Given the description of an element on the screen output the (x, y) to click on. 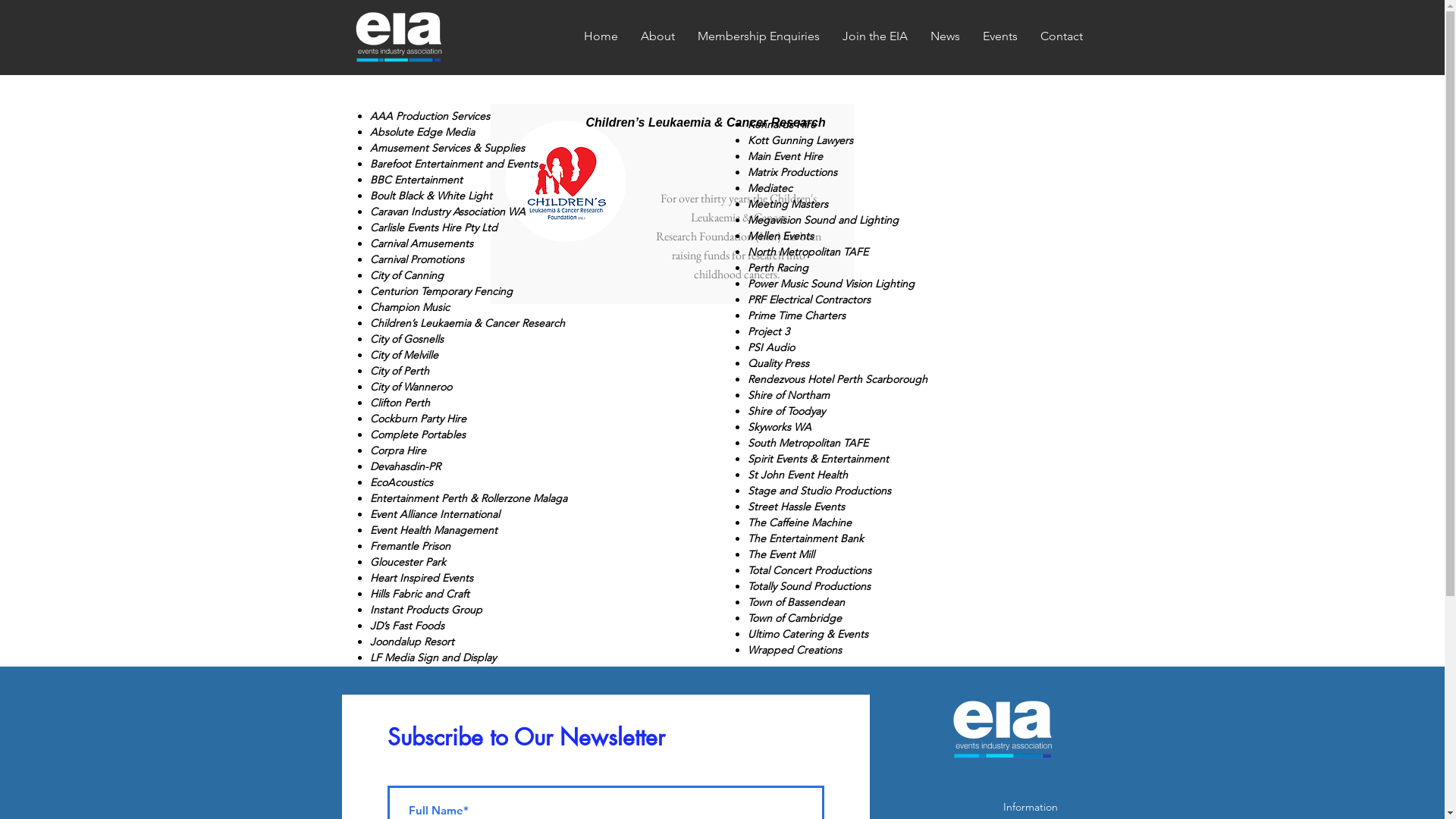
Carnival Promotions Element type: text (417, 259)
Clifton Perth Element type: text (399, 402)
Instant Products Group Element type: text (426, 609)
Centurion Temporary Fencing Element type: text (441, 291)
Meeting Masters Element type: text (787, 203)
Membership Enquiries Element type: text (757, 35)
Shire of Toodyay Element type: text (786, 410)
LF Media Sign and Display Element type: text (432, 657)
Mellen Events Element type: text (780, 235)
The Event Mill Element type: text (780, 554)
Wrapped Creations Element type: text (794, 649)
Contact Element type: text (1060, 35)
Barefoot Entertainment and Events Element type: text (453, 163)
Amusement Services & Supplies Element type: text (447, 147)
Cockburn Party Hire Element type: text (418, 418)
PRF Electrical Contractors Element type: text (808, 299)
Hire Element type: text (414, 450)
City of Canning Element type: text (406, 275)
Joondalup Resort Element type: text (412, 641)
Perth Racing Element type: text (777, 267)
About Element type: text (657, 35)
Rendezvous Hotel Perth Scarborough Element type: text (837, 378)
Ultimo Catering & Events Element type: text (807, 633)
Power Music Sound Vision Lighting Element type: text (830, 283)
Town of Bassendean Element type: text (795, 601)
Skyworks WA Element type: text (779, 426)
M Element type: text (751, 219)
Gloucester Park Element type: text (407, 561)
North Metropolitan TAFE Element type: text (807, 251)
PSI Audio Element type: text (770, 347)
Street Hassle Events Element type: text (795, 506)
Spirit Events & Entertainment Element type: text (817, 458)
Matrix Productions Element type: text (792, 171)
The Caffeine Machine Element type: text (799, 522)
Project 3 Element type: text (768, 331)
Carlisle Events Hire Pty Ltd Element type: text (433, 227)
Hills Fabric and Craft Element type: text (419, 593)
Kott Gunning Lawyers Element type: text (800, 140)
Boult Black & White Light Element type: text (431, 195)
City of Gosnells Element type: text (406, 338)
Corpra Element type: text (386, 450)
The Entertainment Bank Element type: text (805, 538)
Carnival Amusements Element type: text (421, 243)
Event Alliance International Element type: text (434, 513)
Fremantle Prison Element type: text (410, 545)
Main Event Hire Element type: text (784, 156)
Devahasdin-PR Element type: text (405, 466)
St John Event Health Element type: text (797, 474)
Complete Portables Element type: text (417, 434)
Join the EIA Element type: text (875, 35)
Total Concert Productions Element type: text (809, 570)
Caravan Industry Association WA Element type: text (447, 211)
News Element type: text (945, 35)
Absolute Edge Media Element type: text (422, 131)
Events Element type: text (999, 35)
egavision Sound and Lighting Element type: text (827, 219)
BBC Entertainment Element type: text (416, 179)
City of Perth Element type: text (399, 370)
Prime Time Charters Element type: text (796, 315)
South Metropolitan TAFE Element type: text (807, 442)
Heart Inspired Events Element type: text (421, 577)
Event Health Management Element type: text (433, 529)
Mediatec Element type: text (769, 187)
Champion Music Element type: text (409, 306)
City of Melville Element type: text (404, 354)
Totally Sound Productions Element type: text (808, 586)
Home Element type: text (599, 35)
Kennards Hire Element type: text (781, 124)
Entertainment Perth & Rollerzone Malaga Element type: text (468, 498)
Town of Cambridge Element type: text (794, 617)
Quality Press Element type: text (778, 363)
EcoAcoustics Element type: text (401, 482)
Shire of Northam Element type: text (788, 394)
City of Wanneroo Element type: text (410, 386)
Stage and Studio Productions Element type: text (819, 490)
AAA Production Services Element type: text (429, 115)
